Given the description of an element on the screen output the (x, y) to click on. 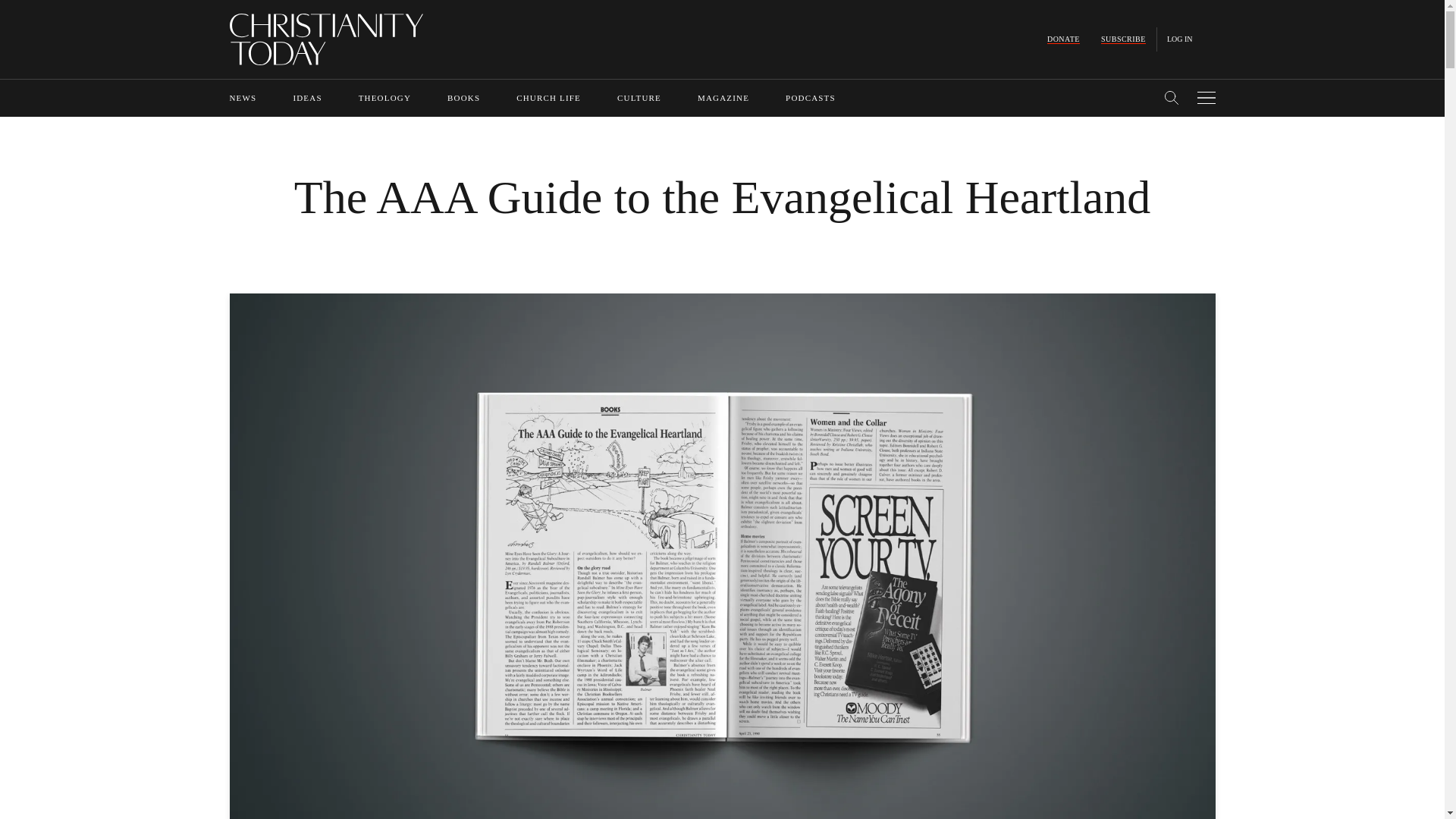
LOG IN (1179, 39)
NEWS (242, 97)
THEOLOGY (384, 97)
SUBSCRIBE (1122, 39)
PODCASTS (810, 97)
DONATE (1063, 39)
MAGAZINE (723, 97)
CULTURE (639, 97)
CHURCH LIFE (548, 97)
IDEAS (306, 97)
